Given the description of an element on the screen output the (x, y) to click on. 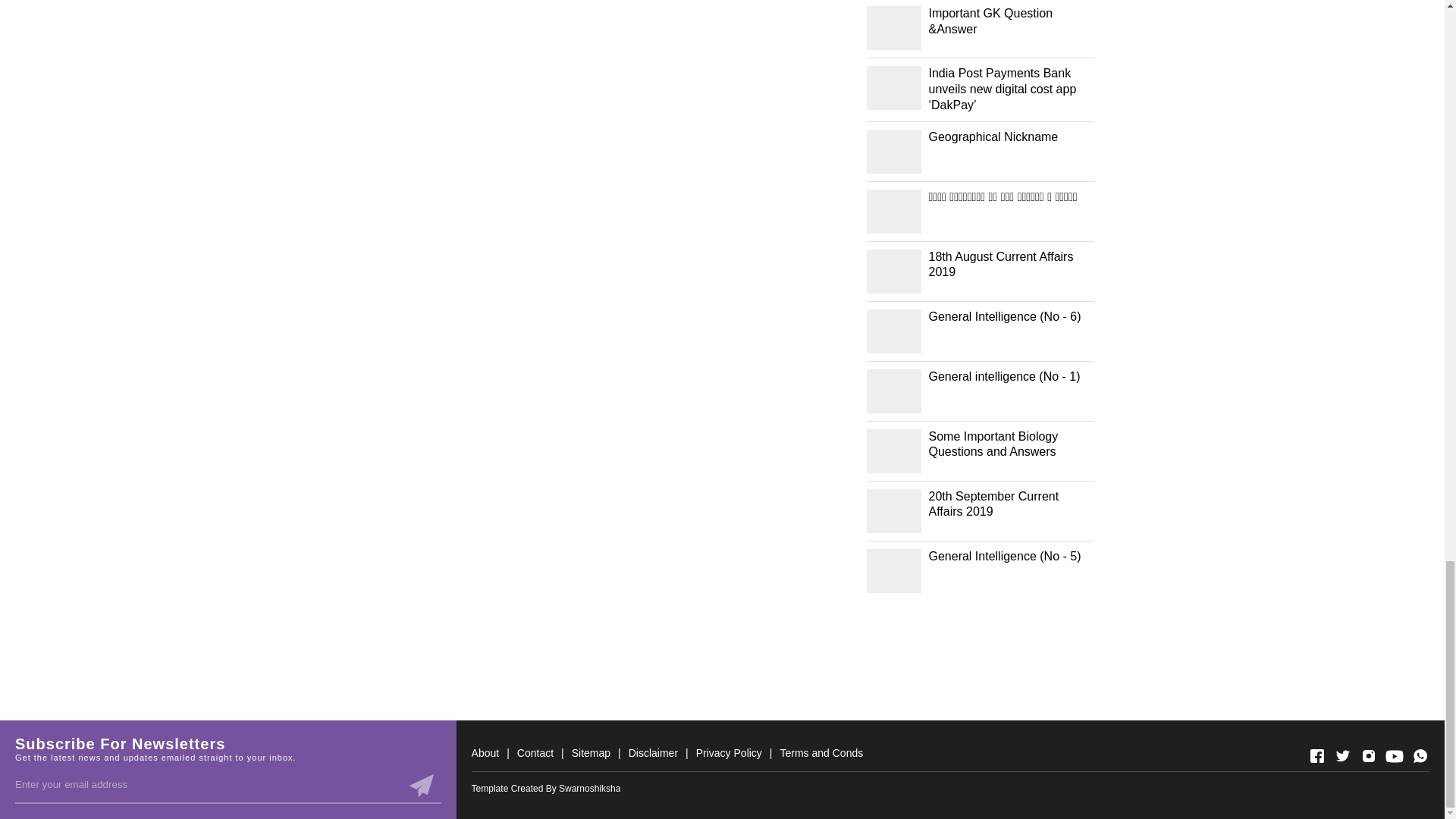
Geographical Nickname (1010, 137)
Some Important Biology Questions and Answers (1010, 445)
18th August Current Affairs 2019 (1010, 265)
20th September Current Affairs 2019 (1010, 504)
